Given the description of an element on the screen output the (x, y) to click on. 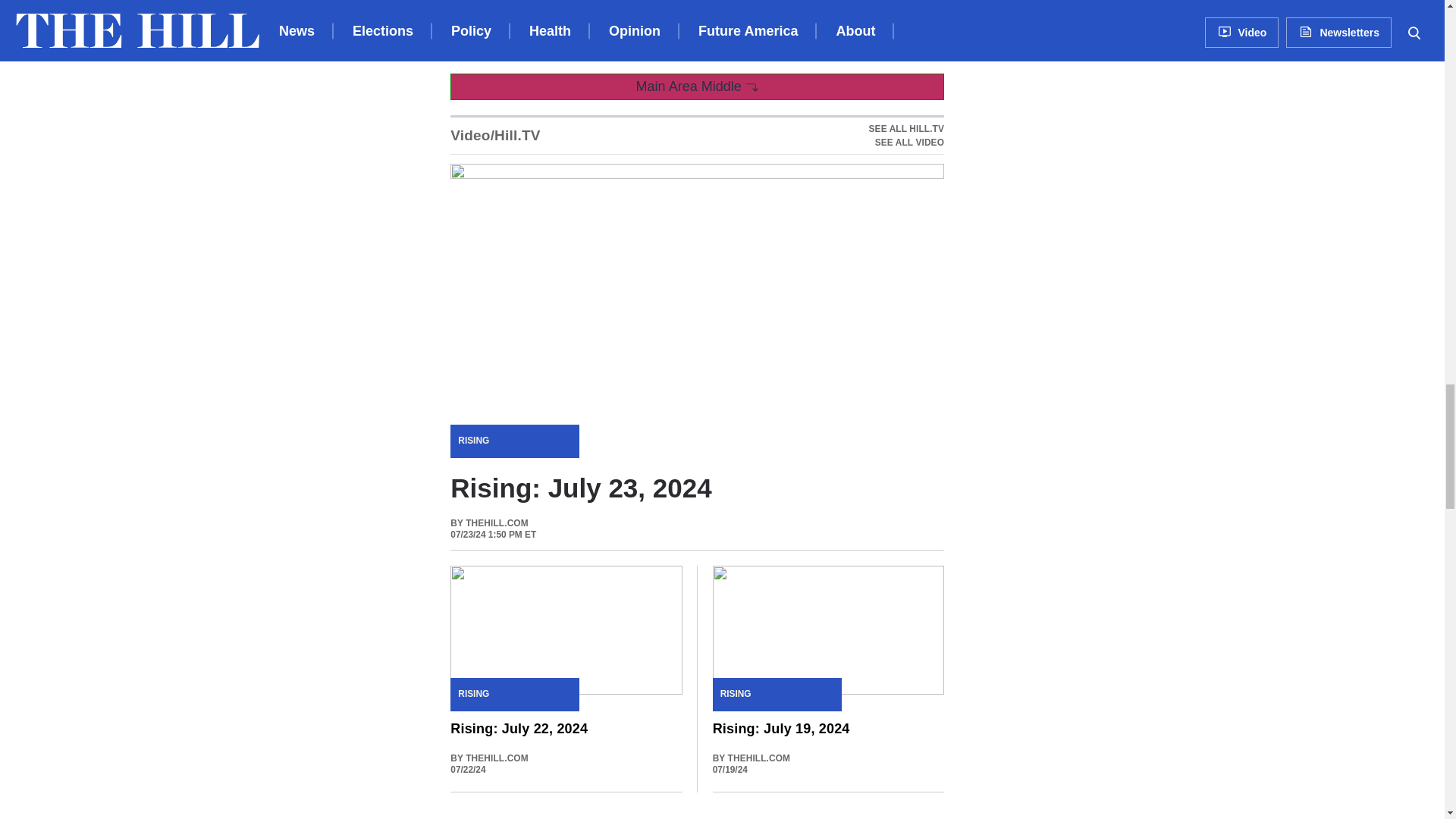
SEE ALL HILL.TV (906, 135)
SEE ALL VIDEO (906, 128)
